Given the description of an element on the screen output the (x, y) to click on. 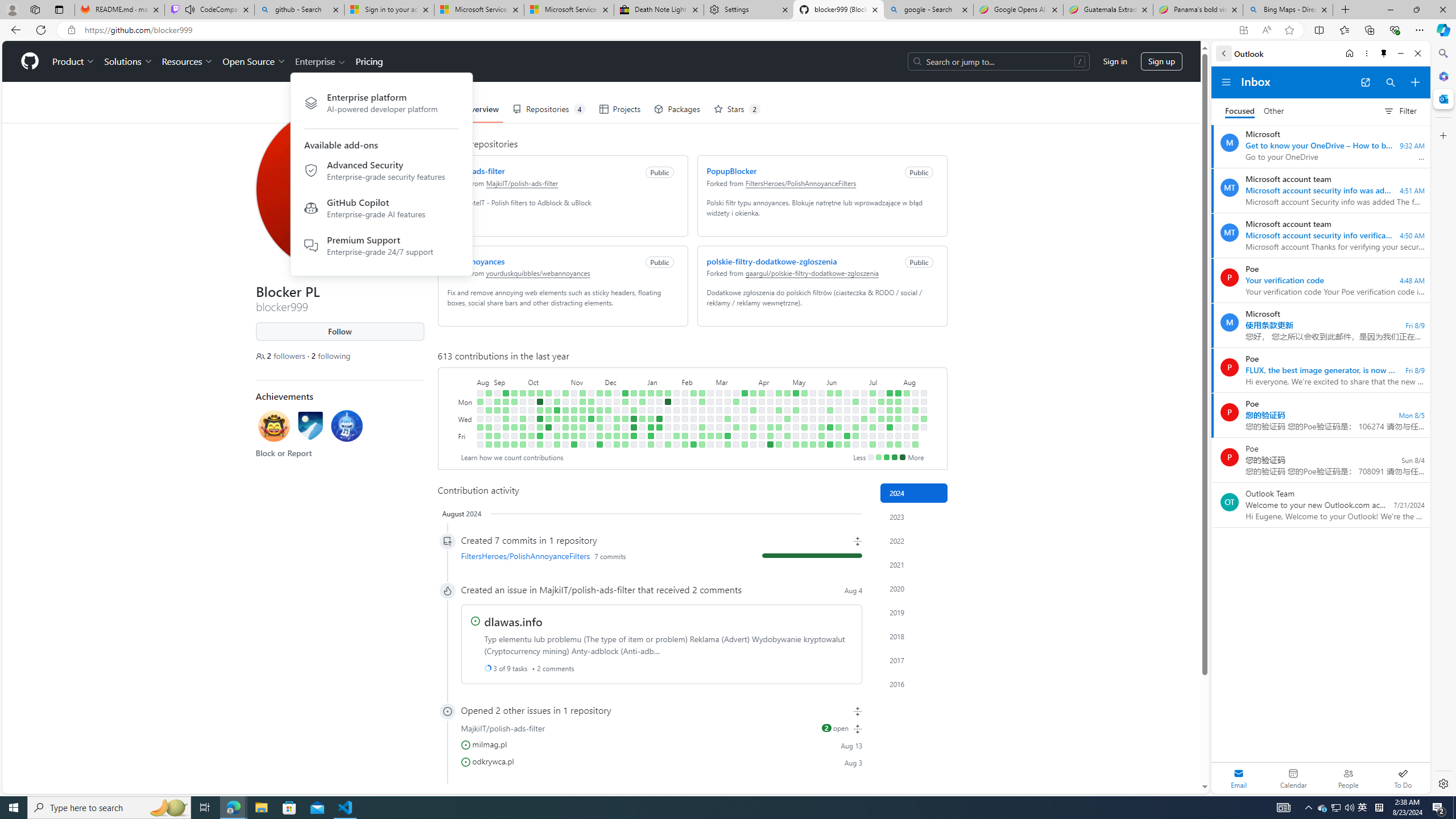
No contributions on November 24th. (591, 435)
MajkiIT/polish-ads-filter 2 open (661, 728)
No contributions on April 14th. (770, 392)
milmag.pl (488, 743)
No contributions on November 4th. (565, 444)
No contributions on August 26th. (479, 444)
Copilot (Ctrl+Shift+.) (1442, 29)
No contributions on May 26th. (821, 392)
1 contribution on January 13th. (650, 444)
No contributions on January 28th. (675, 392)
6 contributions on January 12th. (650, 435)
No contributions on November 18th. (582, 444)
2 contributions on September 21st. (513, 427)
No contributions on December 19th. (624, 410)
No contributions on January 4th. (642, 427)
